Given the description of an element on the screen output the (x, y) to click on. 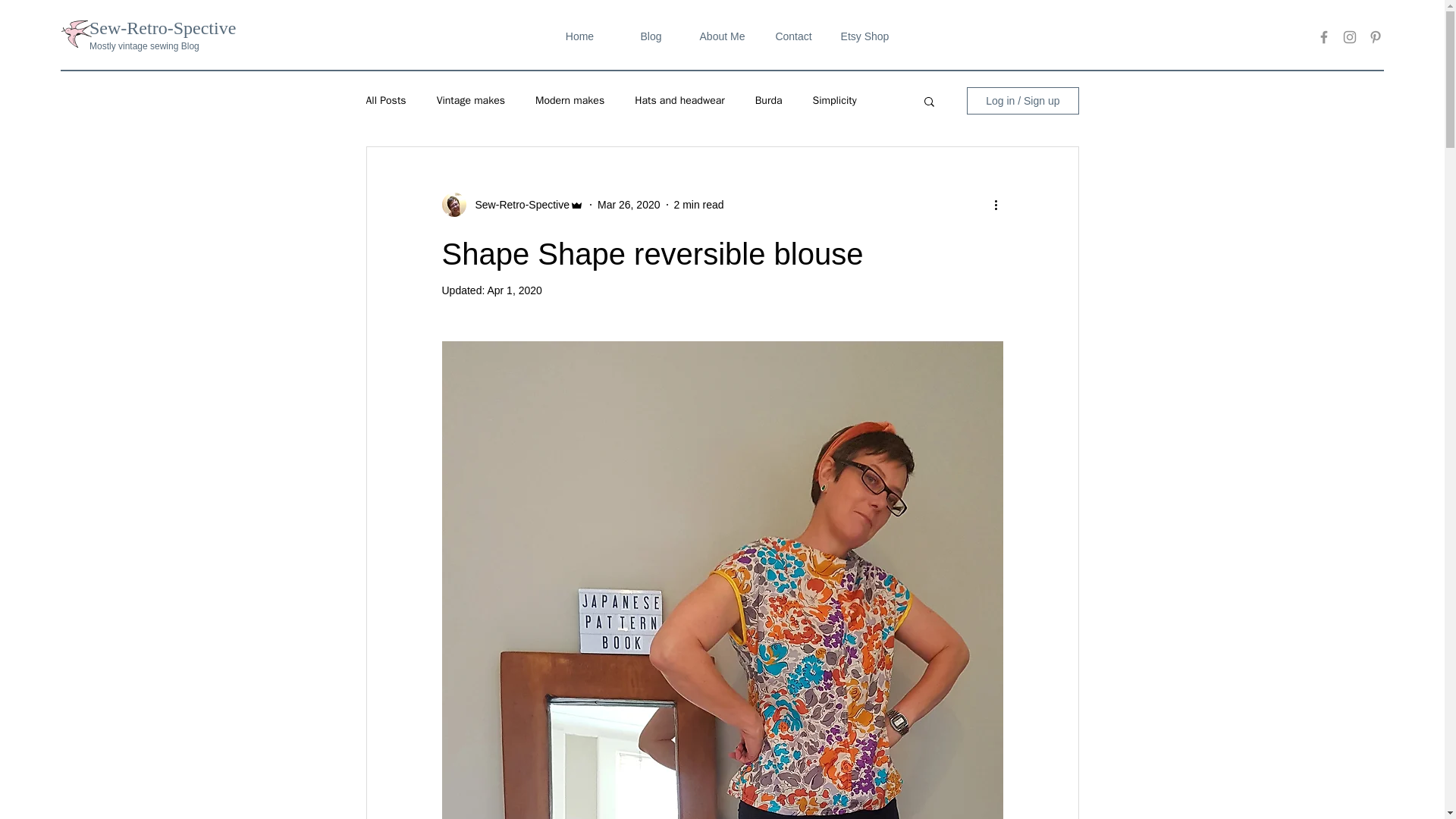
About Me (722, 36)
Home (579, 36)
Sew-Retro-Spective (517, 204)
Blog (651, 36)
Etsy Shop (865, 36)
Mostly vintage sewing Blog (143, 45)
Mar 26, 2020 (628, 204)
Burda (769, 100)
2 min read (697, 204)
Apr 1, 2020 (513, 290)
Simplicity (834, 100)
Hats and headwear (679, 100)
All Posts (385, 100)
Vintage makes (470, 100)
Sew-Retro-Spective (161, 27)
